Given the description of an element on the screen output the (x, y) to click on. 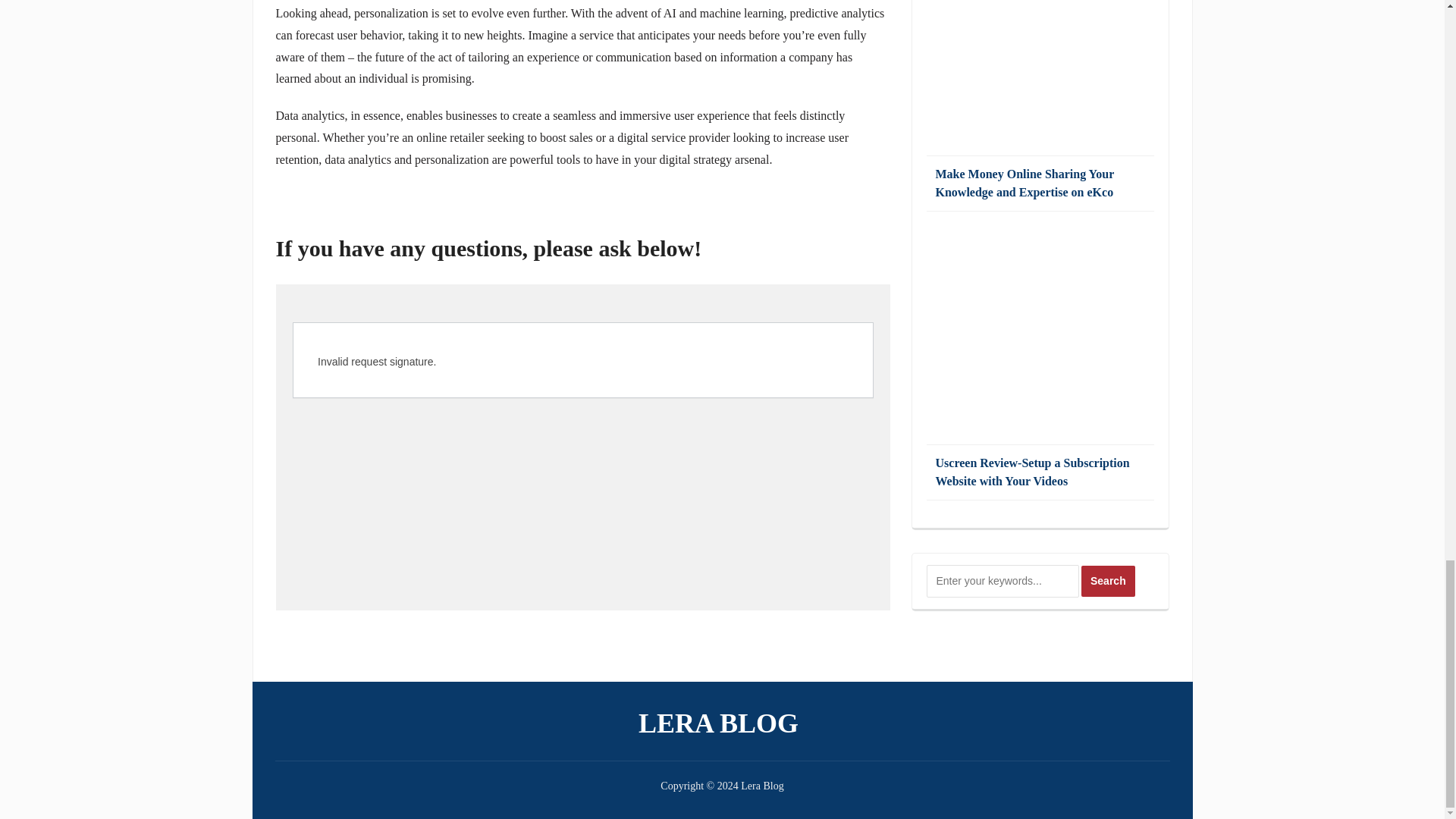
Search (1108, 581)
Search (1108, 581)
